Given the description of an element on the screen output the (x, y) to click on. 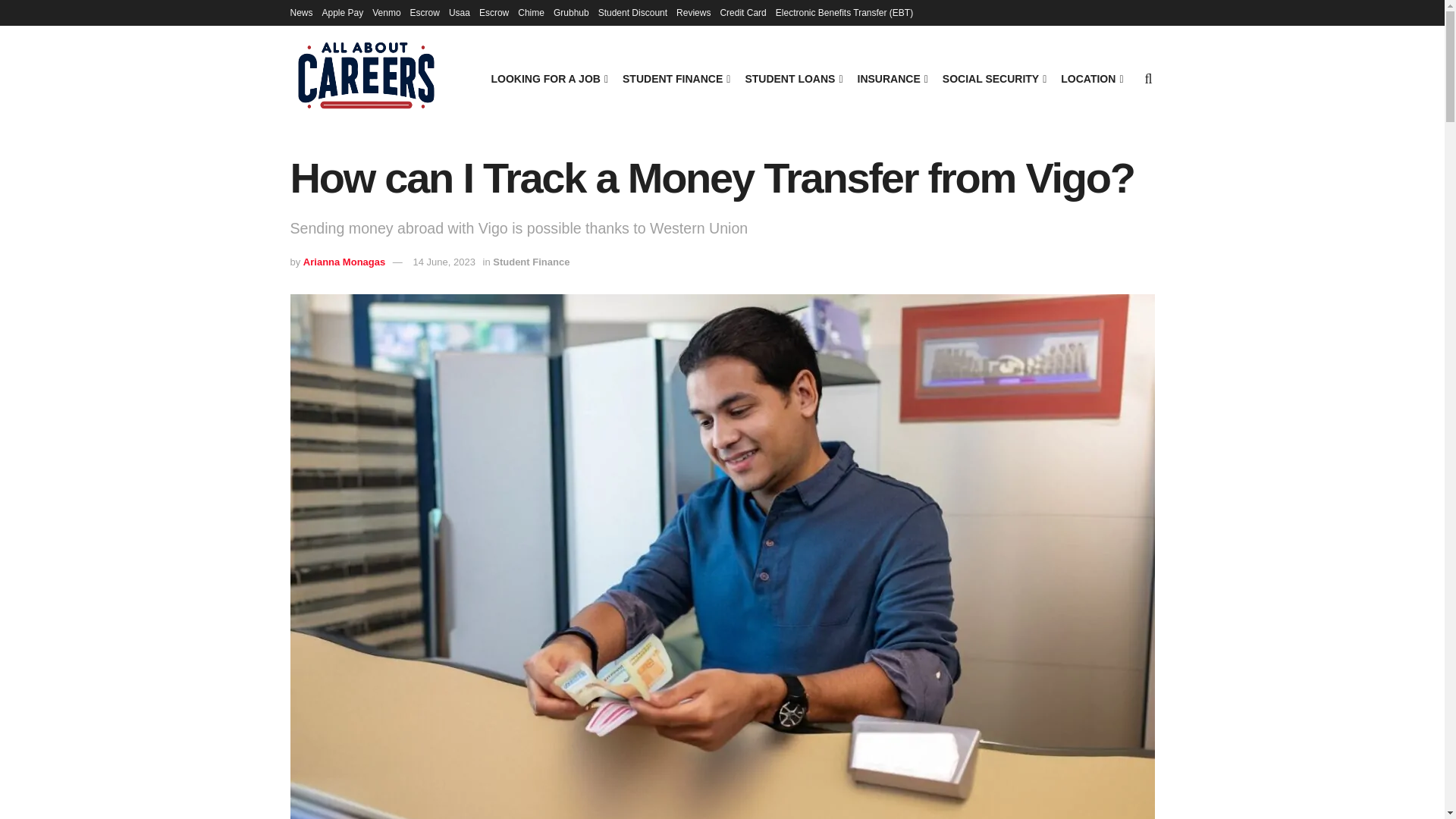
Grubhub (571, 12)
Venmo (386, 12)
Escrow (493, 12)
Apple Pay (342, 12)
Student Discount (632, 12)
Credit Card (742, 12)
Chime (531, 12)
STUDENT FINANCE (675, 78)
Reviews (693, 12)
LOOKING FOR A JOB (547, 78)
